Given the description of an element on the screen output the (x, y) to click on. 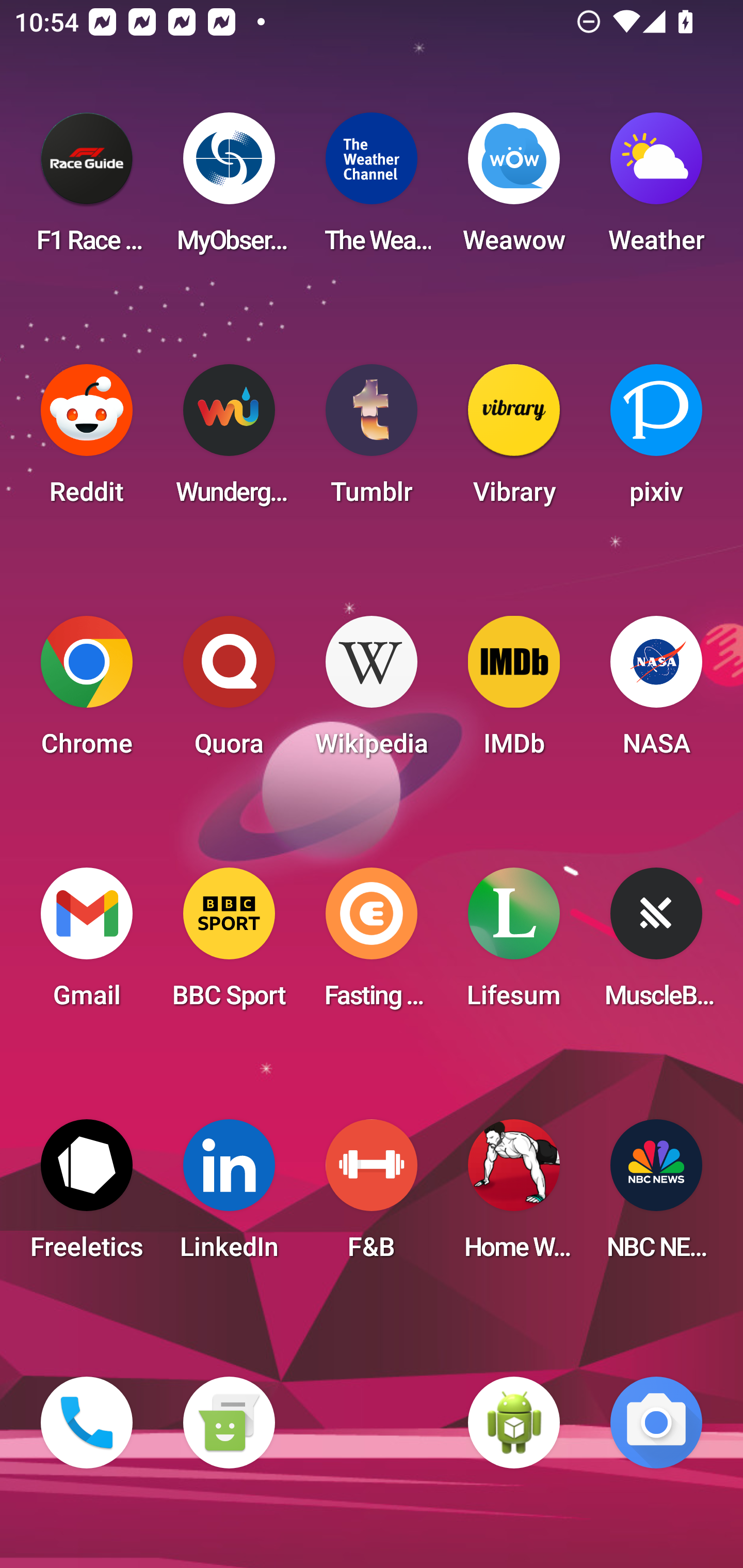
F1 Race Guide (86, 188)
MyObservatory (228, 188)
The Weather Channel (371, 188)
Weawow (513, 188)
Weather (656, 188)
Reddit (86, 440)
Wunderground (228, 440)
Tumblr (371, 440)
Vibrary (513, 440)
pixiv (656, 440)
Chrome (86, 692)
Quora (228, 692)
Wikipedia (371, 692)
IMDb (513, 692)
NASA (656, 692)
Gmail (86, 943)
BBC Sport (228, 943)
Fasting Coach (371, 943)
Lifesum (513, 943)
MuscleBooster (656, 943)
Freeletics (86, 1195)
LinkedIn (228, 1195)
F&B (371, 1195)
Home Workout (513, 1195)
NBC NEWS (656, 1195)
Phone (86, 1422)
Messaging (228, 1422)
WebView Browser Tester (513, 1422)
Camera (656, 1422)
